Given the description of an element on the screen output the (x, y) to click on. 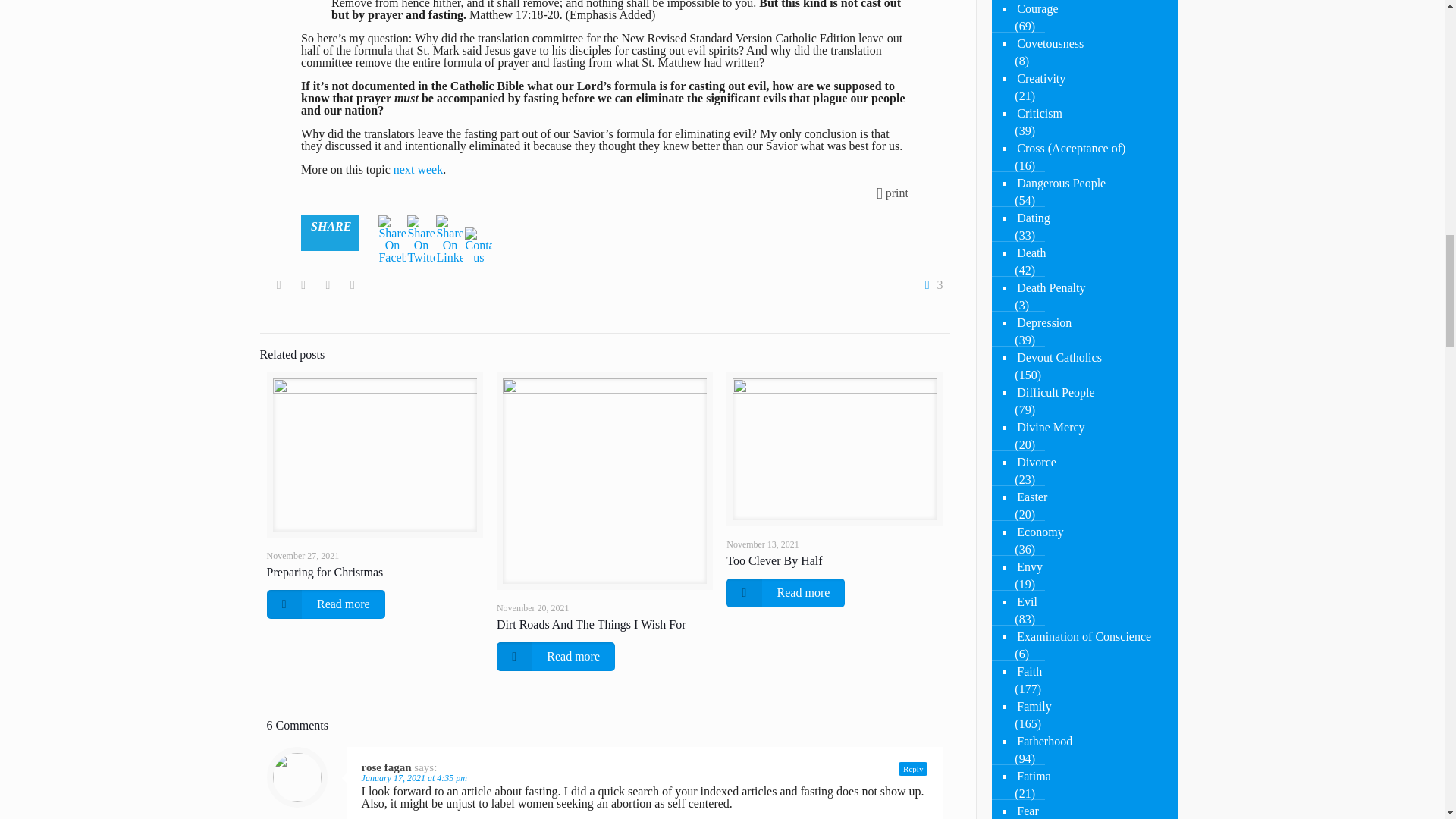
SHARE (329, 232)
